Given the description of an element on the screen output the (x, y) to click on. 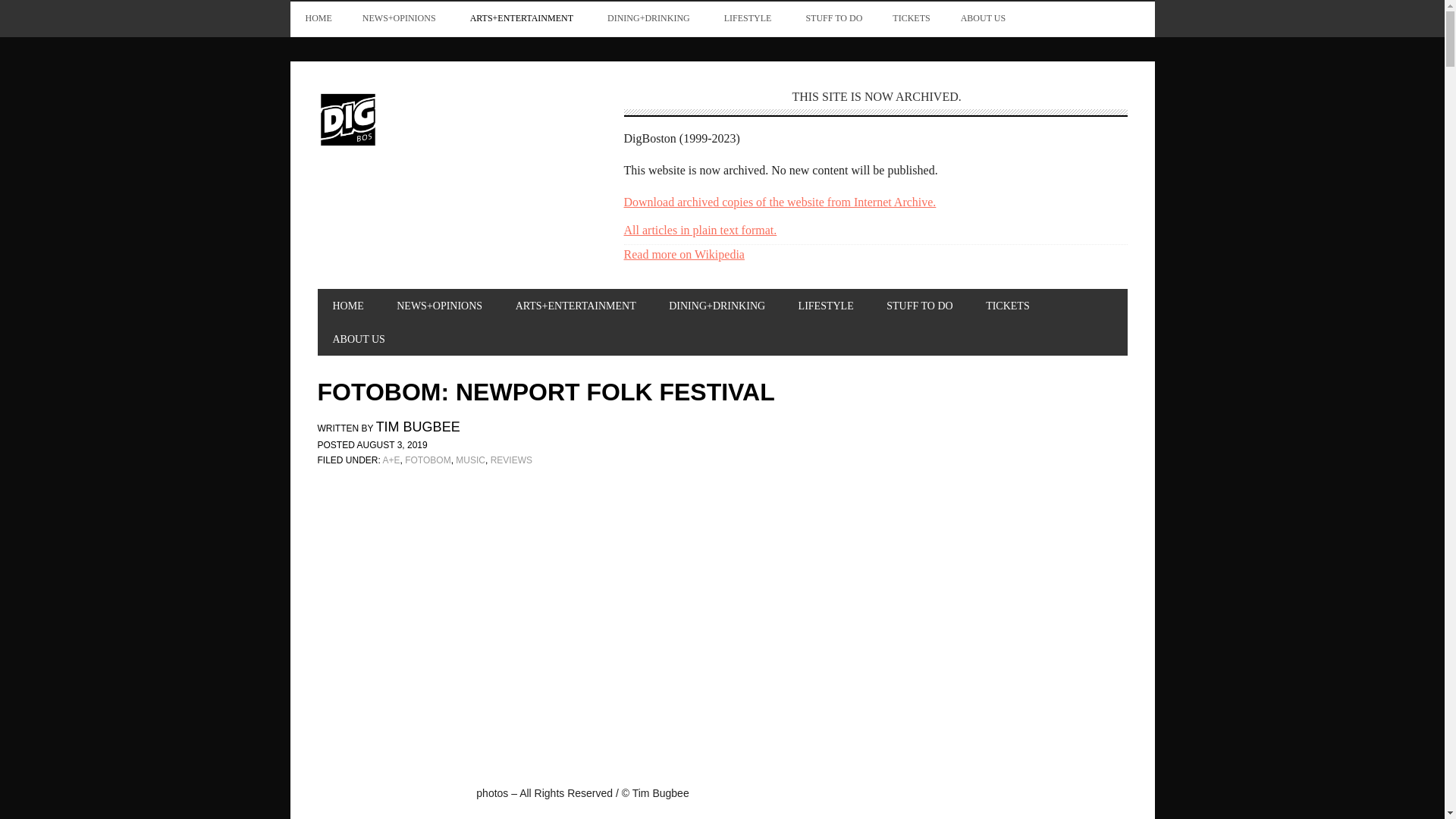
LIFESTYLE (749, 18)
Read more on Wikipedia (683, 254)
All articles in plain text format. (699, 229)
STUFF TO DO (833, 18)
TICKETS (910, 18)
HOME (317, 18)
HOME (347, 305)
